Given the description of an element on the screen output the (x, y) to click on. 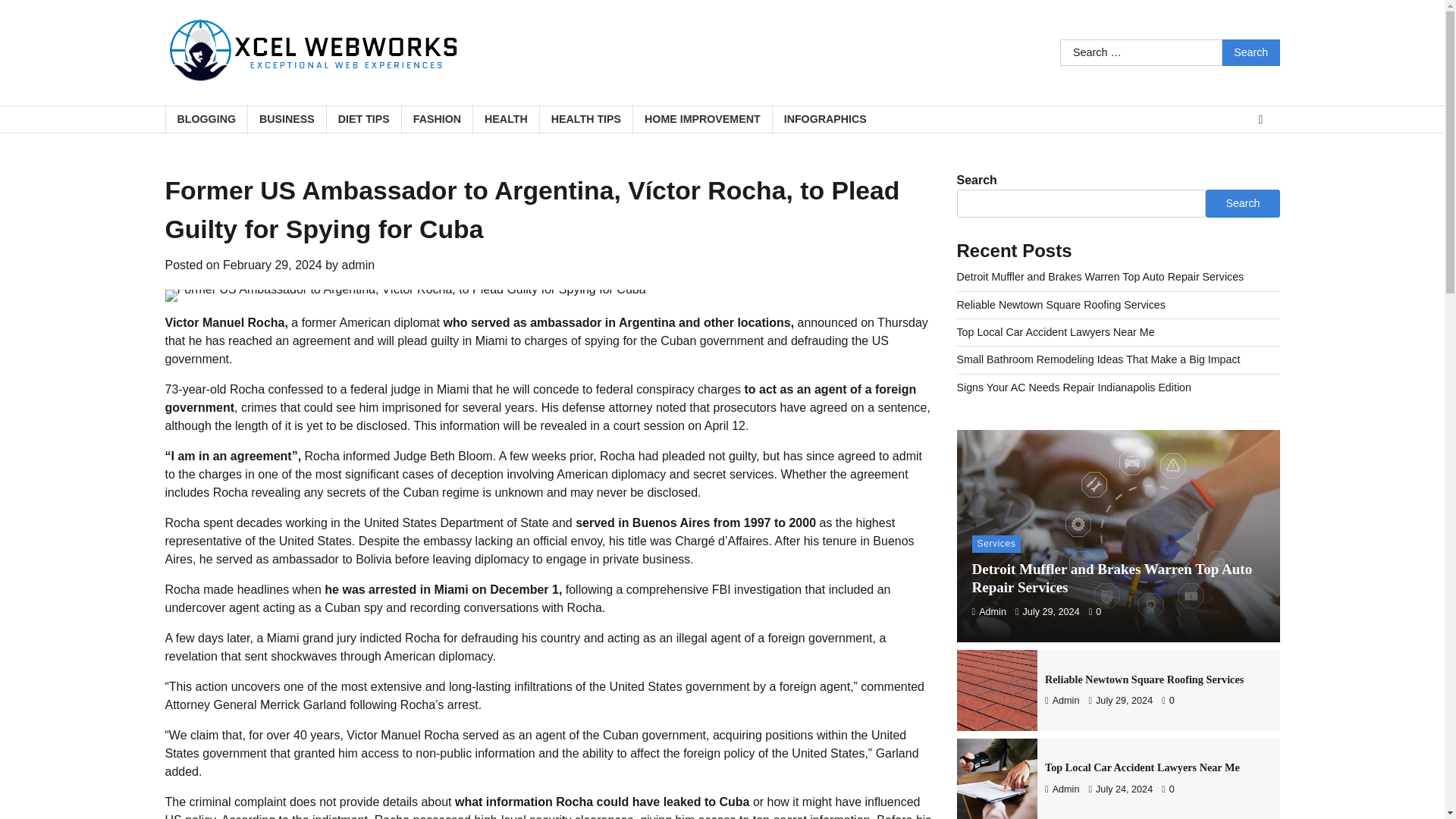
HOME IMPROVEMENT (701, 119)
View Random Post (1260, 119)
INFOGRAPHICS (824, 119)
admin (358, 264)
HEALTH TIPS (584, 119)
HEALTH (504, 119)
Search (1251, 52)
FASHION (436, 119)
DIET TIPS (363, 119)
Search (1251, 52)
